Given the description of an element on the screen output the (x, y) to click on. 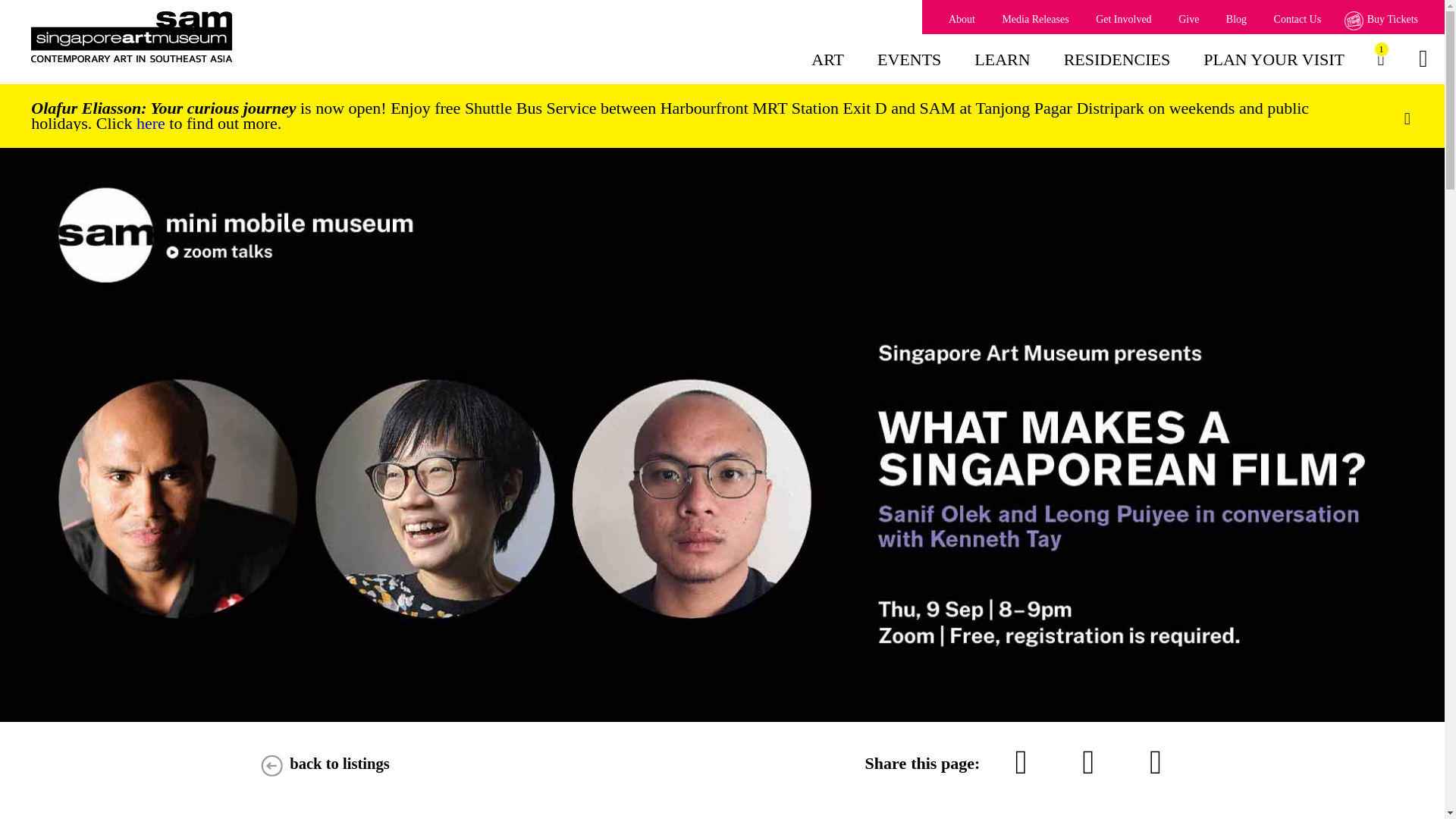
Buy Tickets (1383, 19)
Contact Us (1298, 19)
Blog (1235, 19)
Facebook (1088, 763)
Media Releases (1034, 19)
Give (1187, 19)
Singapore Art Museum (207, 37)
ART (827, 68)
Get Involved (1380, 59)
